Given the description of an element on the screen output the (x, y) to click on. 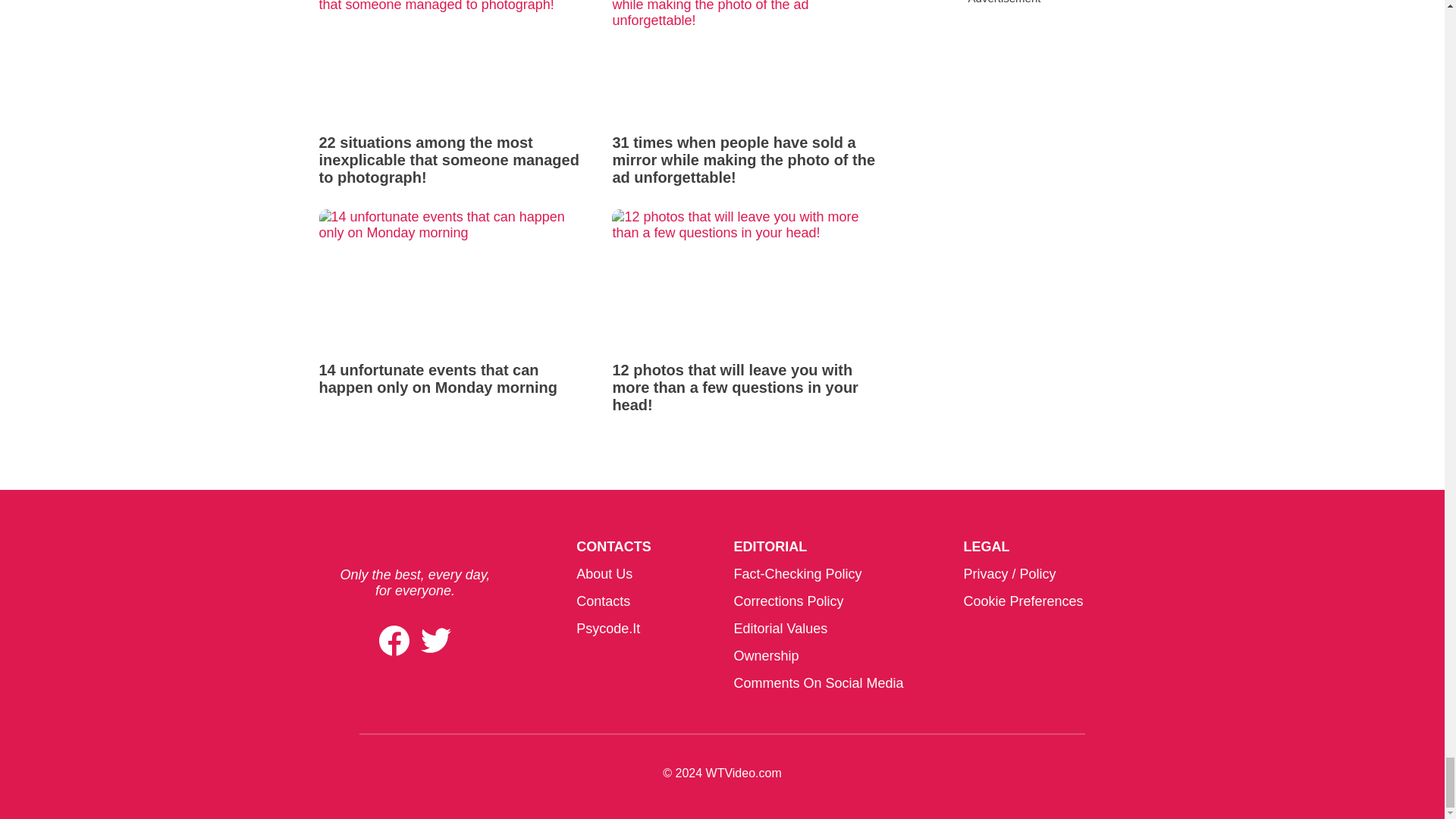
Contacts (603, 601)
About Us (603, 573)
14 unfortunate events that can happen only on Monday morning (453, 302)
